Given the description of an element on the screen output the (x, y) to click on. 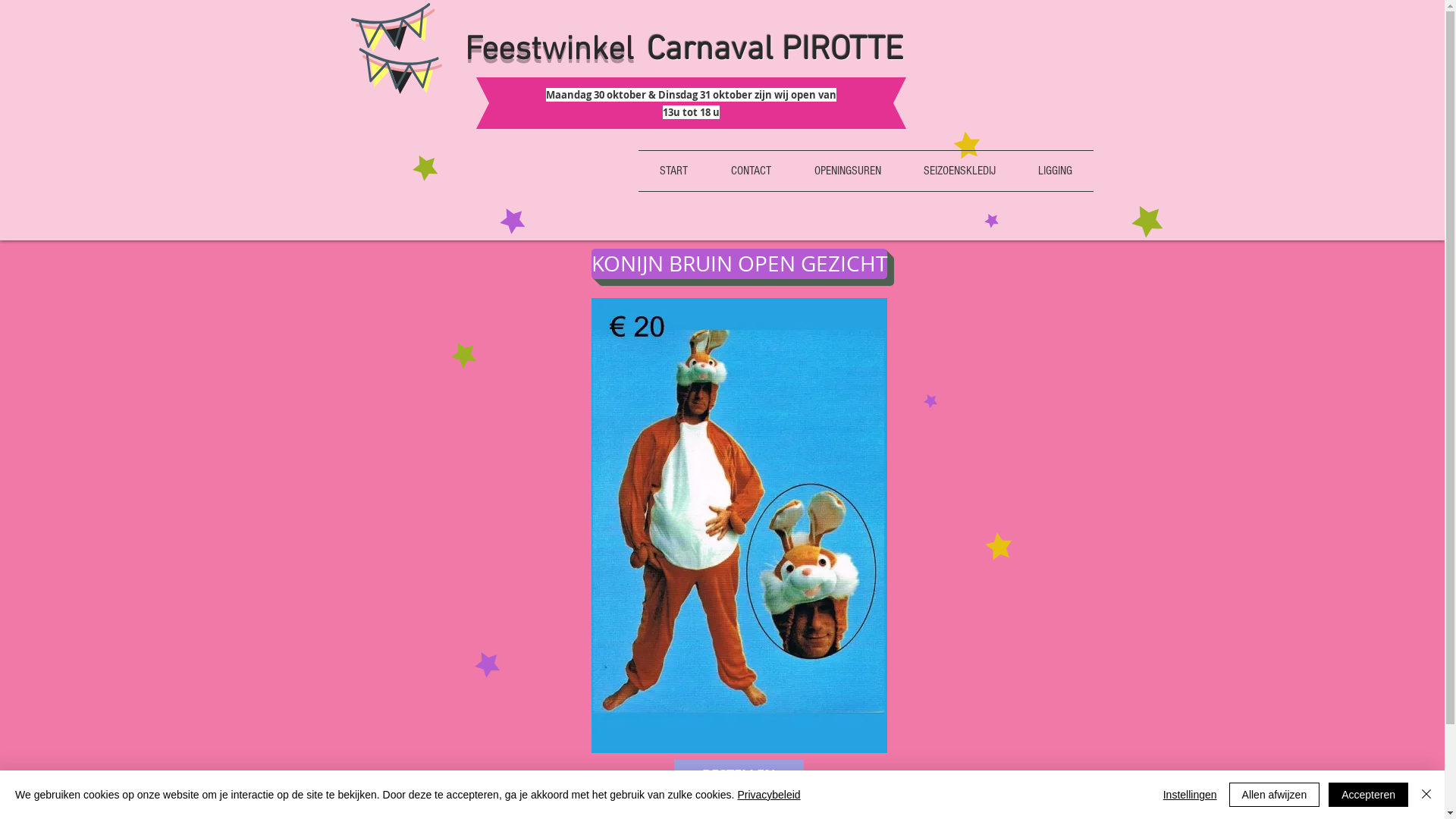
Privacybeleid Element type: text (768, 794)
LIGGING Element type: text (1054, 170)
Terug naar DIEREN Element type: text (1012, 778)
BESTELLEN Element type: text (738, 774)
START Element type: text (673, 170)
OPENINGSUREN Element type: text (847, 170)
CONTACT Element type: text (751, 170)
Accepteren Element type: text (1368, 794)
SEIZOENSKLEDIJ Element type: text (959, 170)
Allen afwijzen Element type: text (1274, 794)
